Given the description of an element on the screen output the (x, y) to click on. 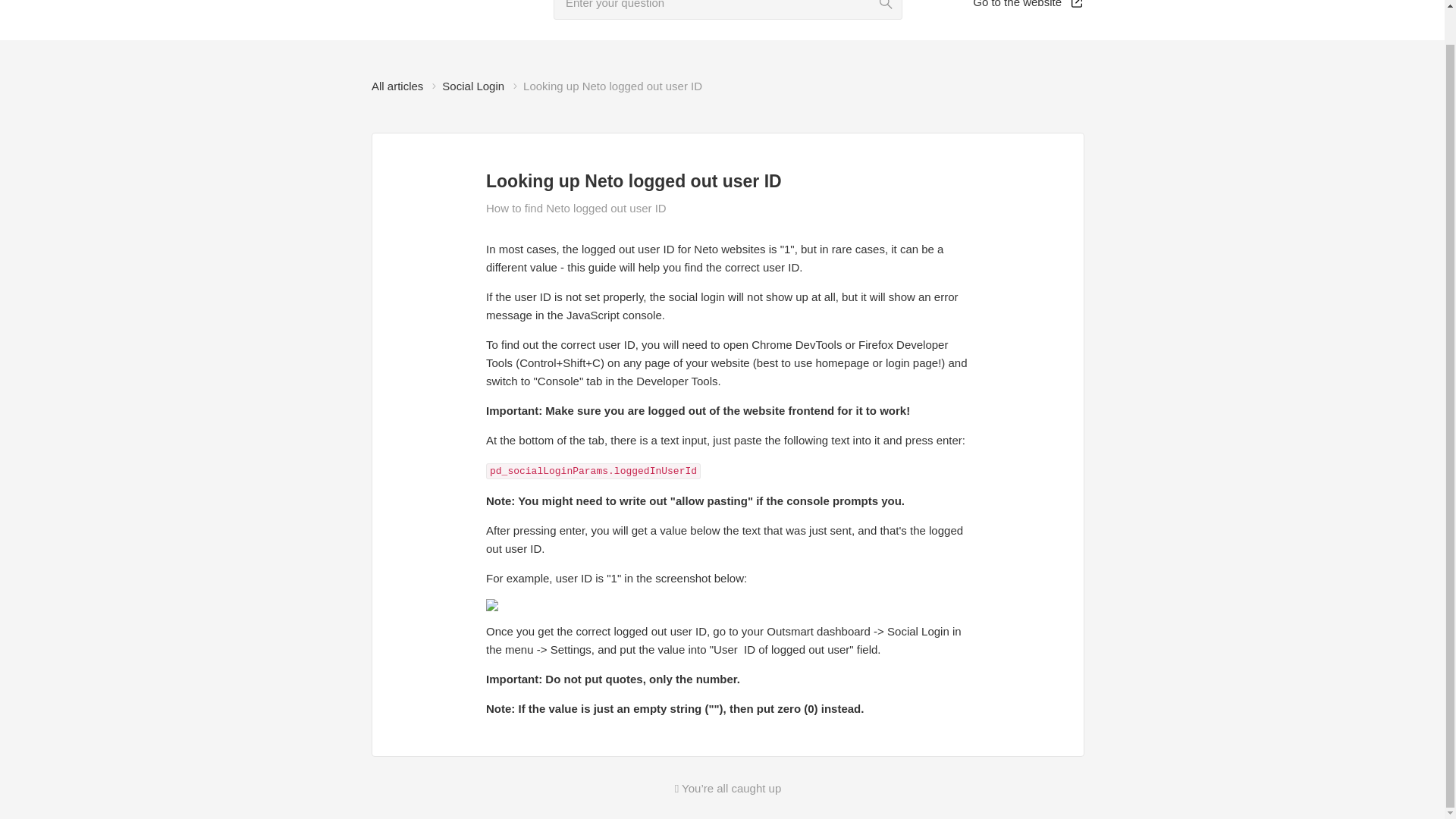
Go to the website (1028, 4)
Social Login (472, 85)
All articles (397, 85)
